Given the description of an element on the screen output the (x, y) to click on. 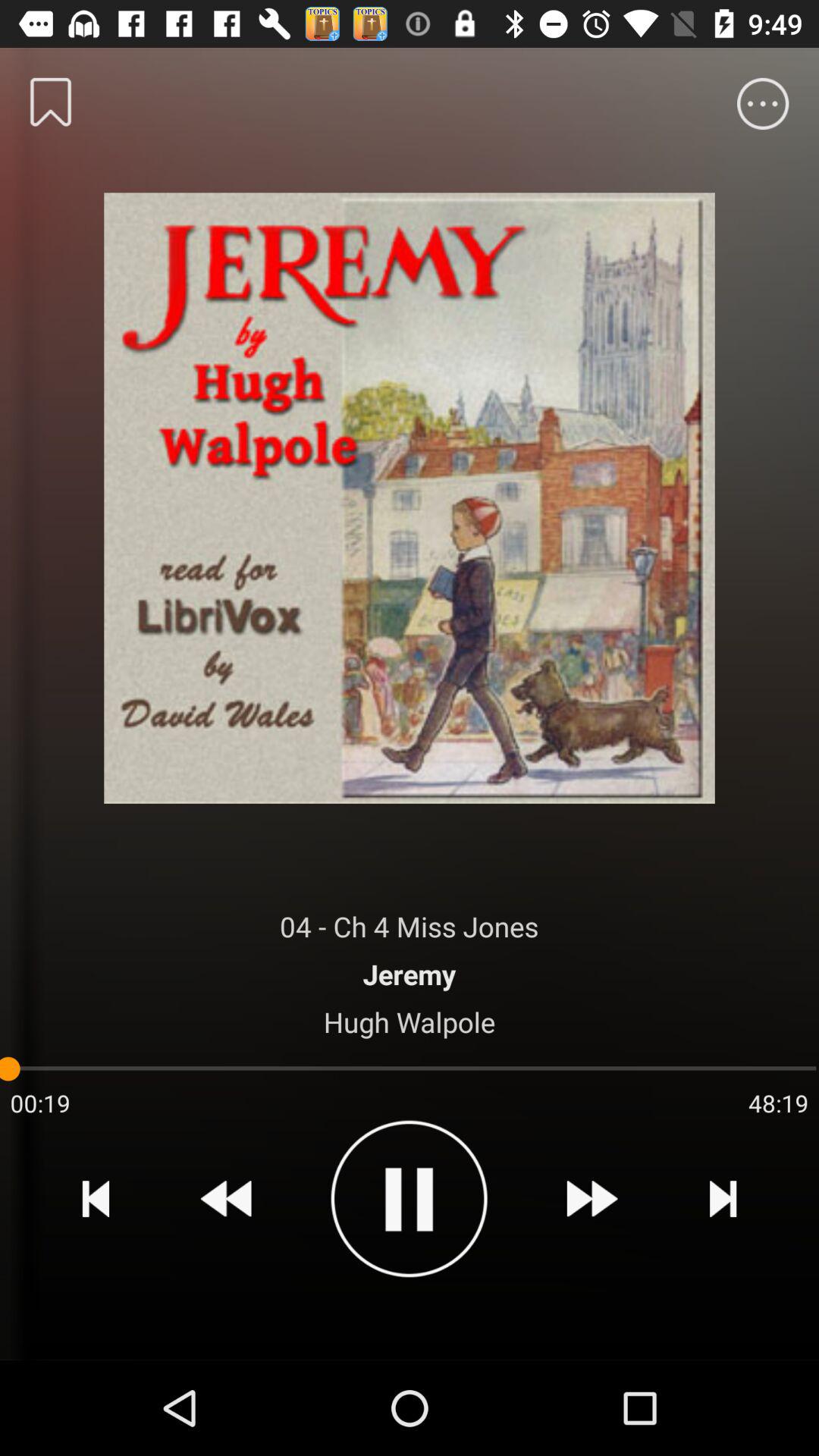
turn off item at the top right corner (762, 103)
